Given the description of an element on the screen output the (x, y) to click on. 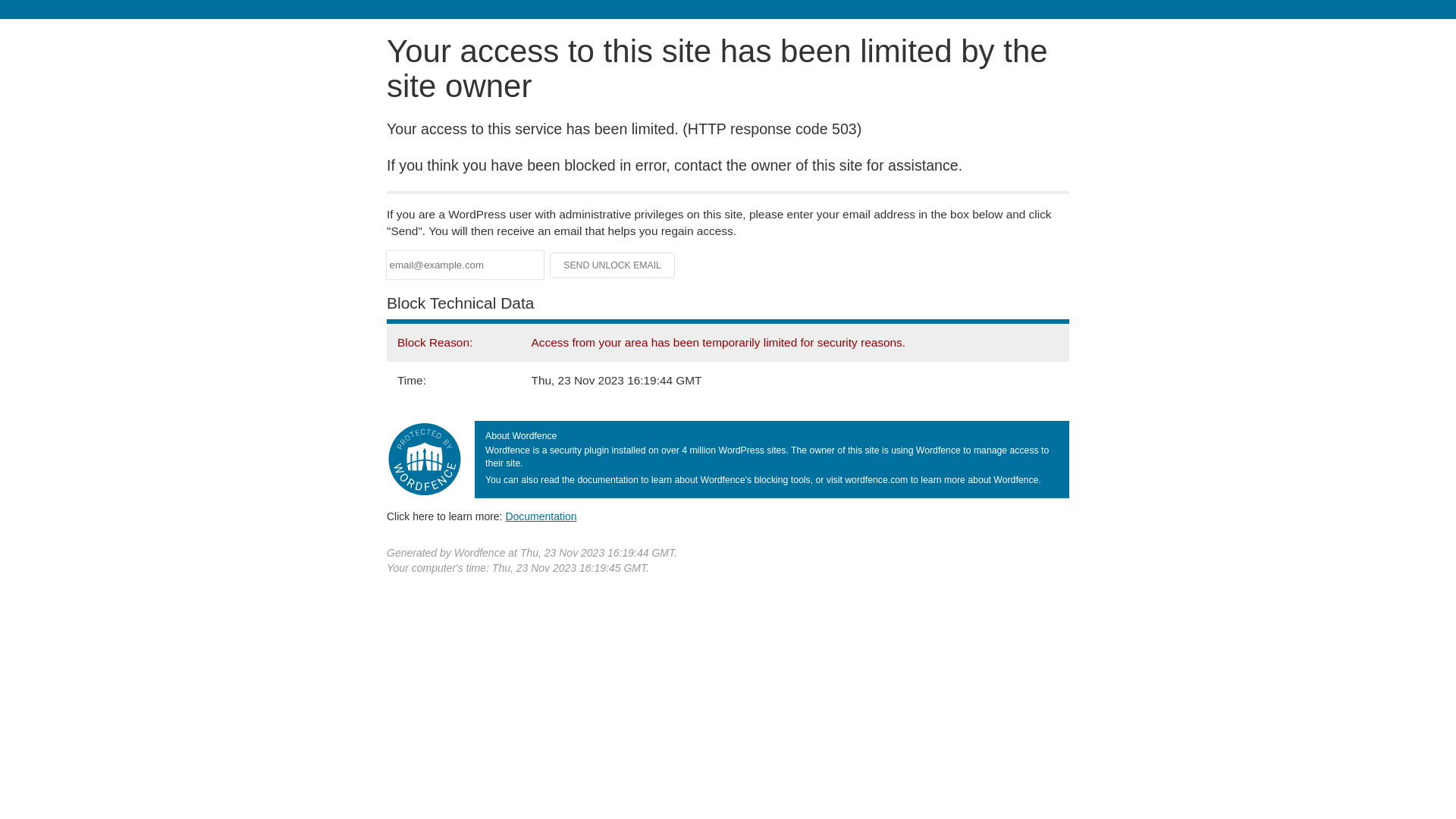
Send Unlock Email Element type: text (612, 265)
Documentation Element type: text (540, 516)
